Given the description of an element on the screen output the (x, y) to click on. 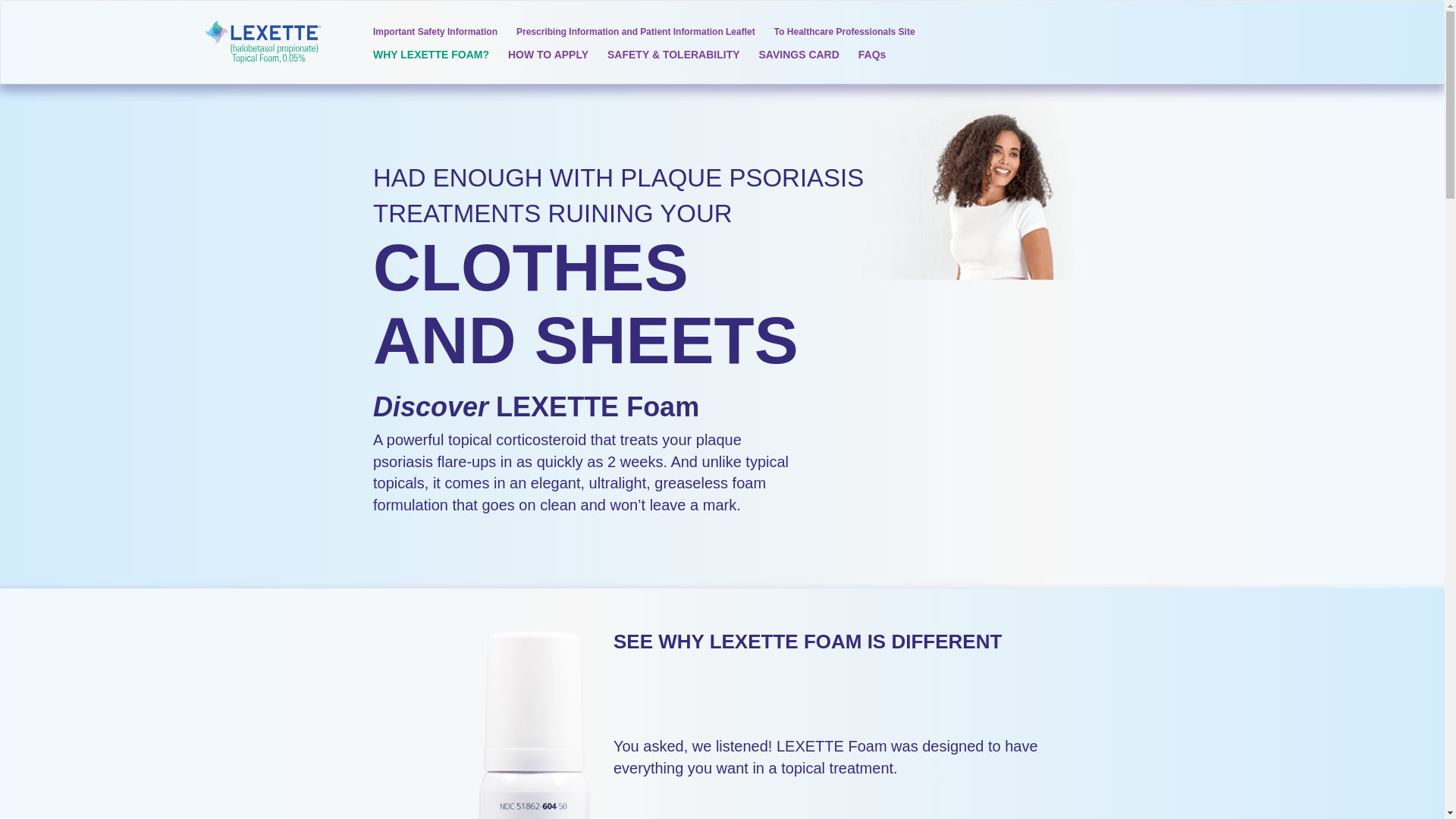
To Healthcare Professionals Site (844, 29)
To Healthcare Professionals Site (844, 29)
Prescribing Information and Patient Information Leaflet (635, 29)
Prescribing Information and Patient Information Leaflet (635, 29)
SAVINGS CARD (799, 57)
WHY LEXETTE FOAM? (430, 57)
HOW TO APPLY (548, 57)
FAQs (872, 57)
Important Safety Information  (434, 29)
Important Safety Information (434, 29)
